Given the description of an element on the screen output the (x, y) to click on. 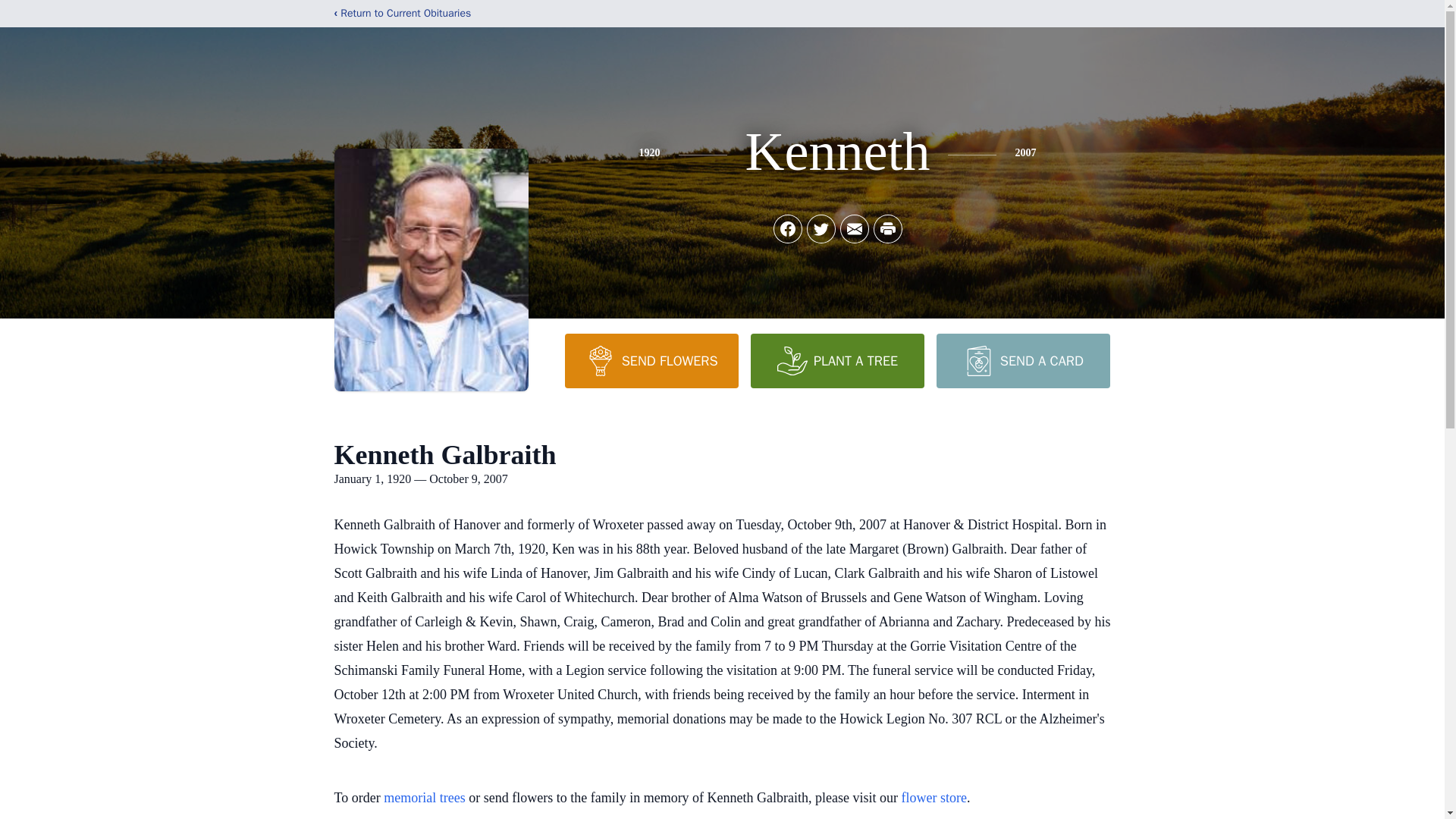
SEND FLOWERS (651, 360)
flower store (933, 797)
SEND A CARD (1022, 360)
memorial trees (424, 797)
PLANT A TREE (837, 360)
